Given the description of an element on the screen output the (x, y) to click on. 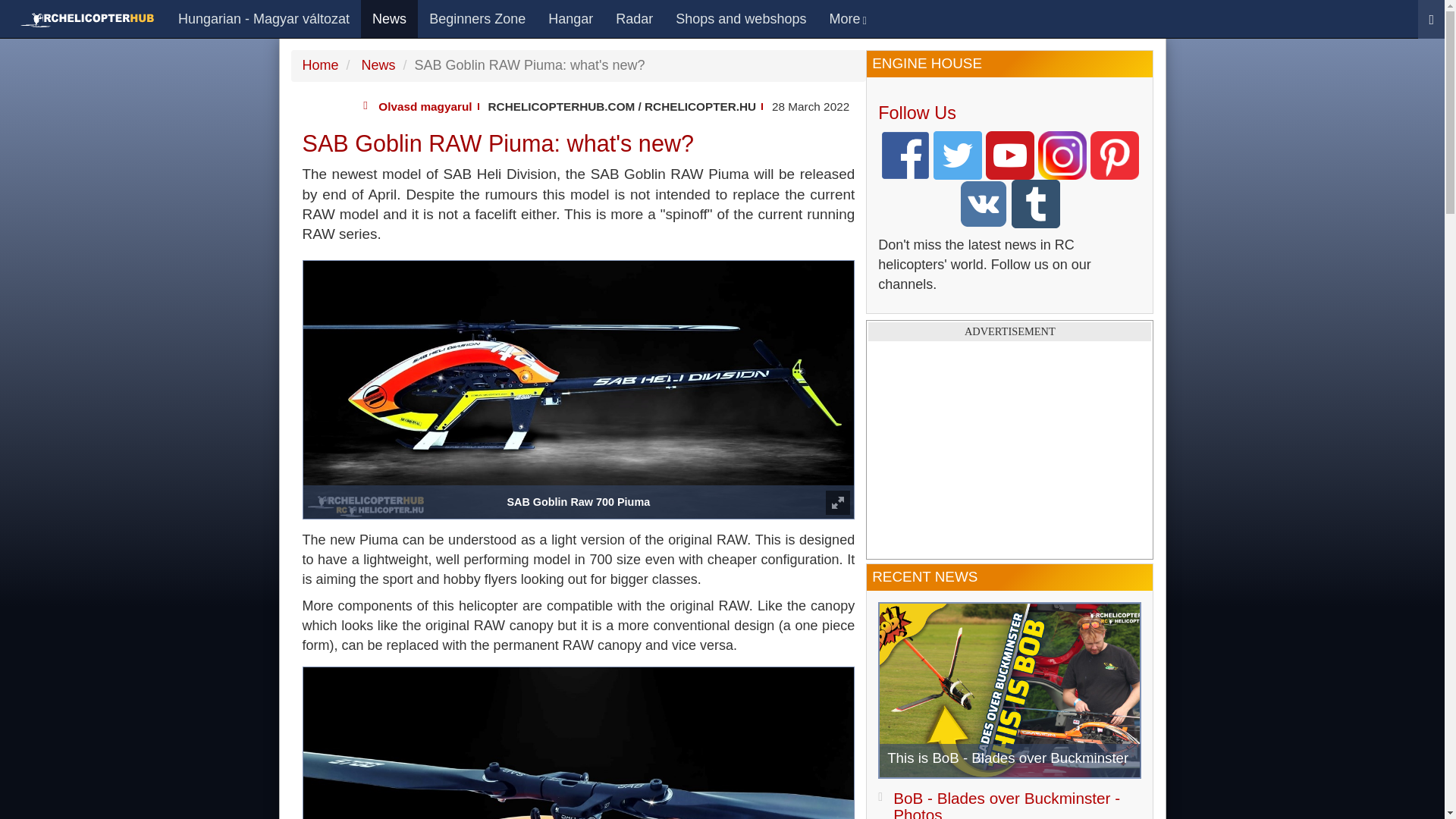
Advertisement (1009, 450)
News (389, 18)
Shops and webshops (739, 18)
News (377, 64)
Hangar (570, 18)
Beginners Zone (477, 18)
More (846, 18)
Olvasd magyarul (424, 106)
Home (319, 64)
Radar (633, 18)
